Given the description of an element on the screen output the (x, y) to click on. 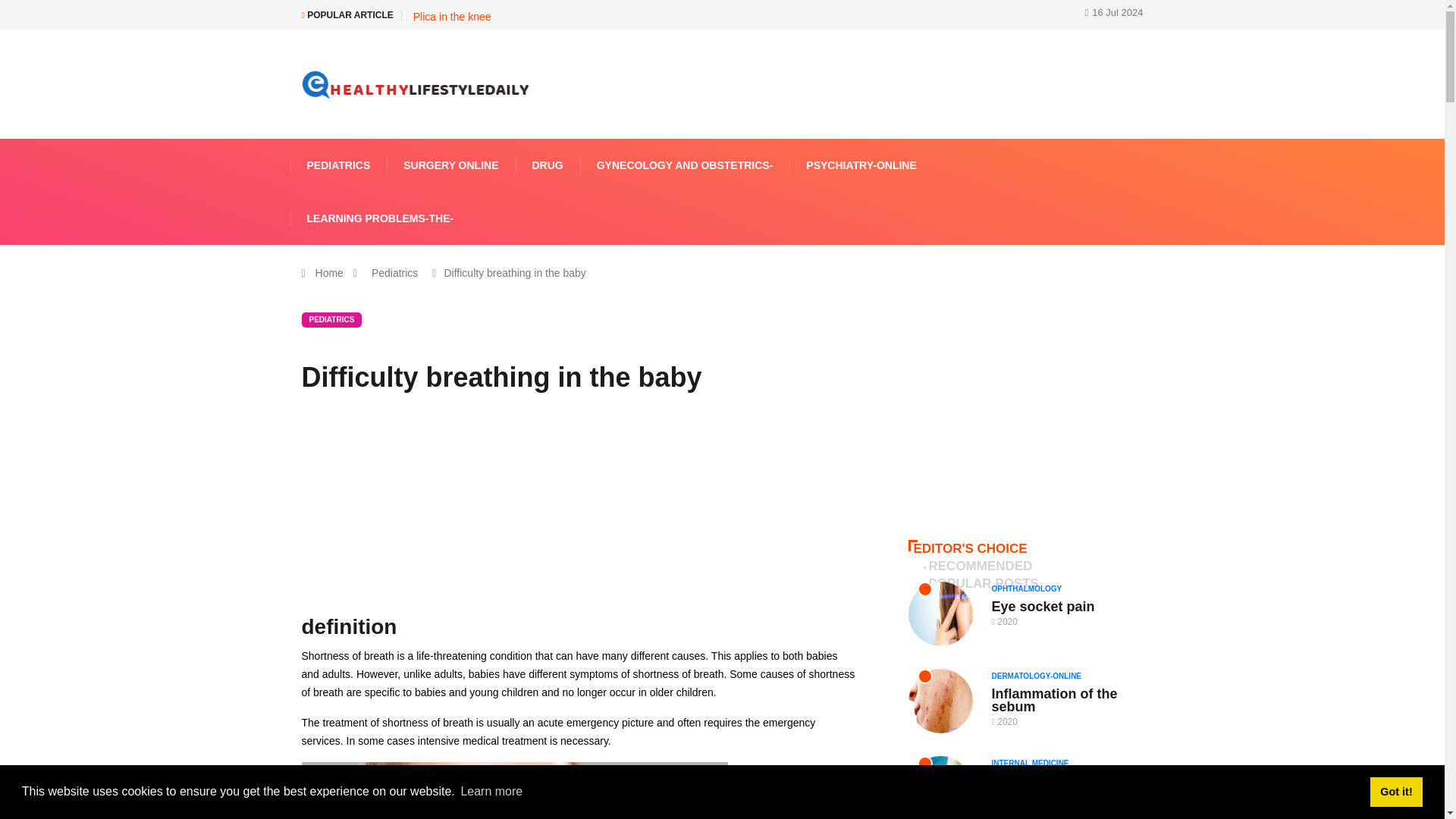
Pediatrics (395, 272)
PSYCHIATRY-ONLINE (861, 164)
GYNECOLOGY AND OBSTETRICS- (684, 164)
RECOMMENDED (980, 566)
POPULAR POSTS (983, 583)
Plica in the knee (452, 16)
LEARNING PROBLEMS-THE- (379, 217)
Home (329, 272)
Learn more (486, 796)
DRUG (547, 164)
EDITOR'S CHOICE (970, 548)
Advertisement (1025, 411)
OPHTHALMOLOGY (1030, 589)
PEDIATRICS (338, 164)
Got it! (1405, 794)
